Given the description of an element on the screen output the (x, y) to click on. 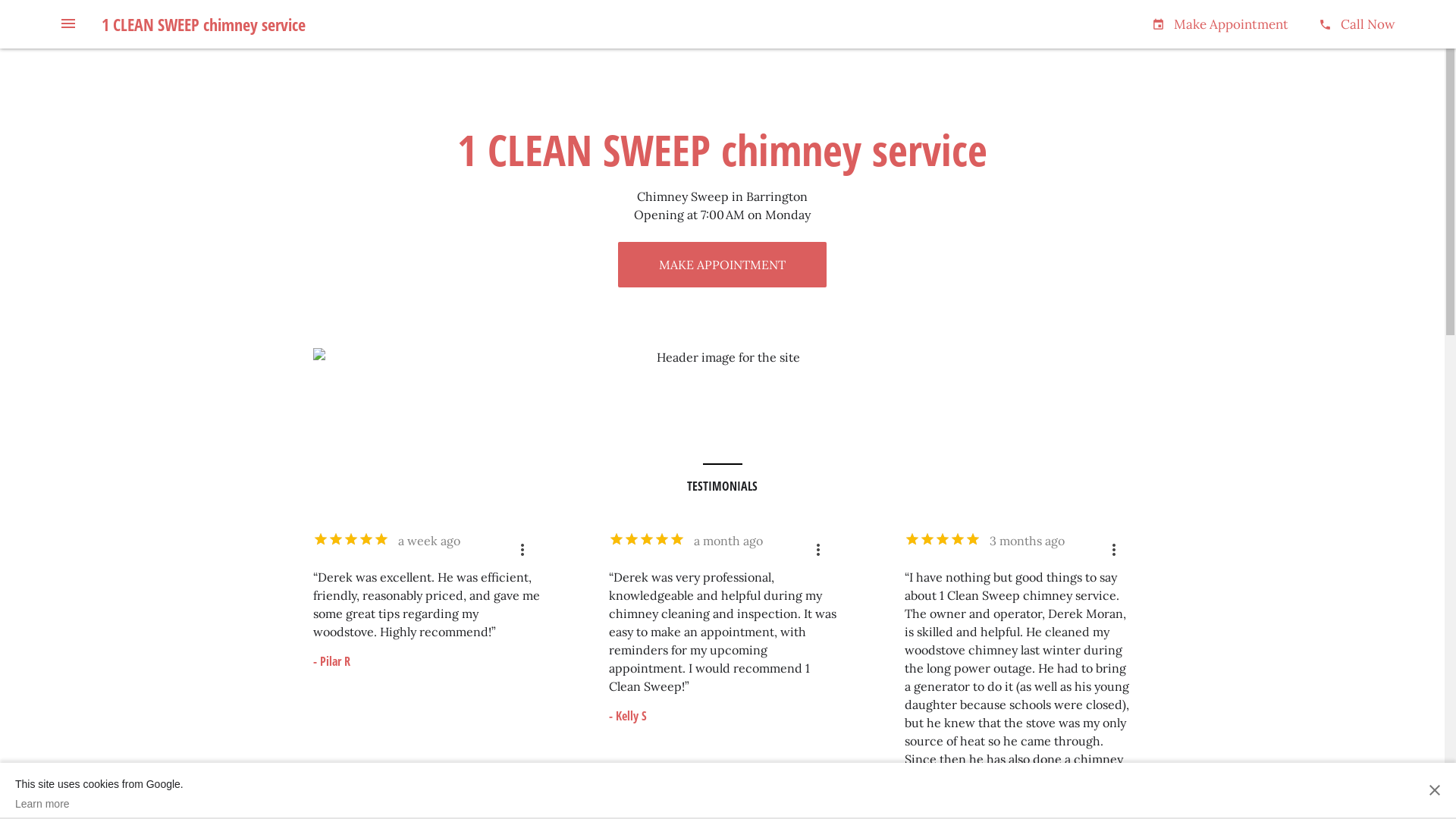
1 CLEAN SWEEP chimney service Element type: text (203, 23)
MAKE APPOINTMENT Element type: text (722, 264)
Learn more Element type: text (99, 803)
